Given the description of an element on the screen output the (x, y) to click on. 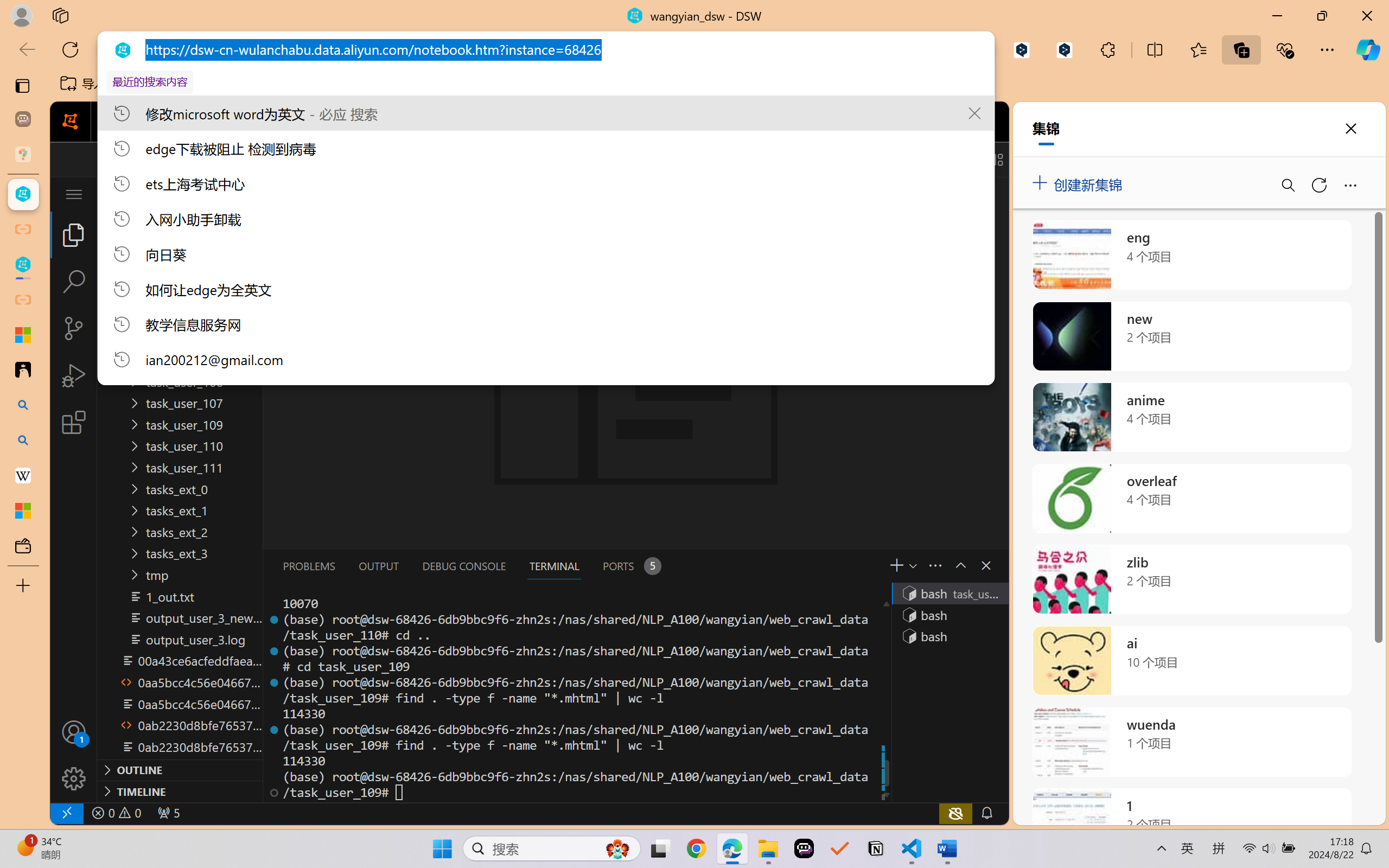
Class: menubar compact overflow-menu-only inactive (73, 194)
Terminal 2 bash (949, 614)
Explorer actions (211, 194)
Title actions (957, 159)
Terminal 1 bash (949, 593)
Search (Ctrl+Shift+F) (73, 281)
Notebook (353, 121)
icon (930, 121)
